Given the description of an element on the screen output the (x, y) to click on. 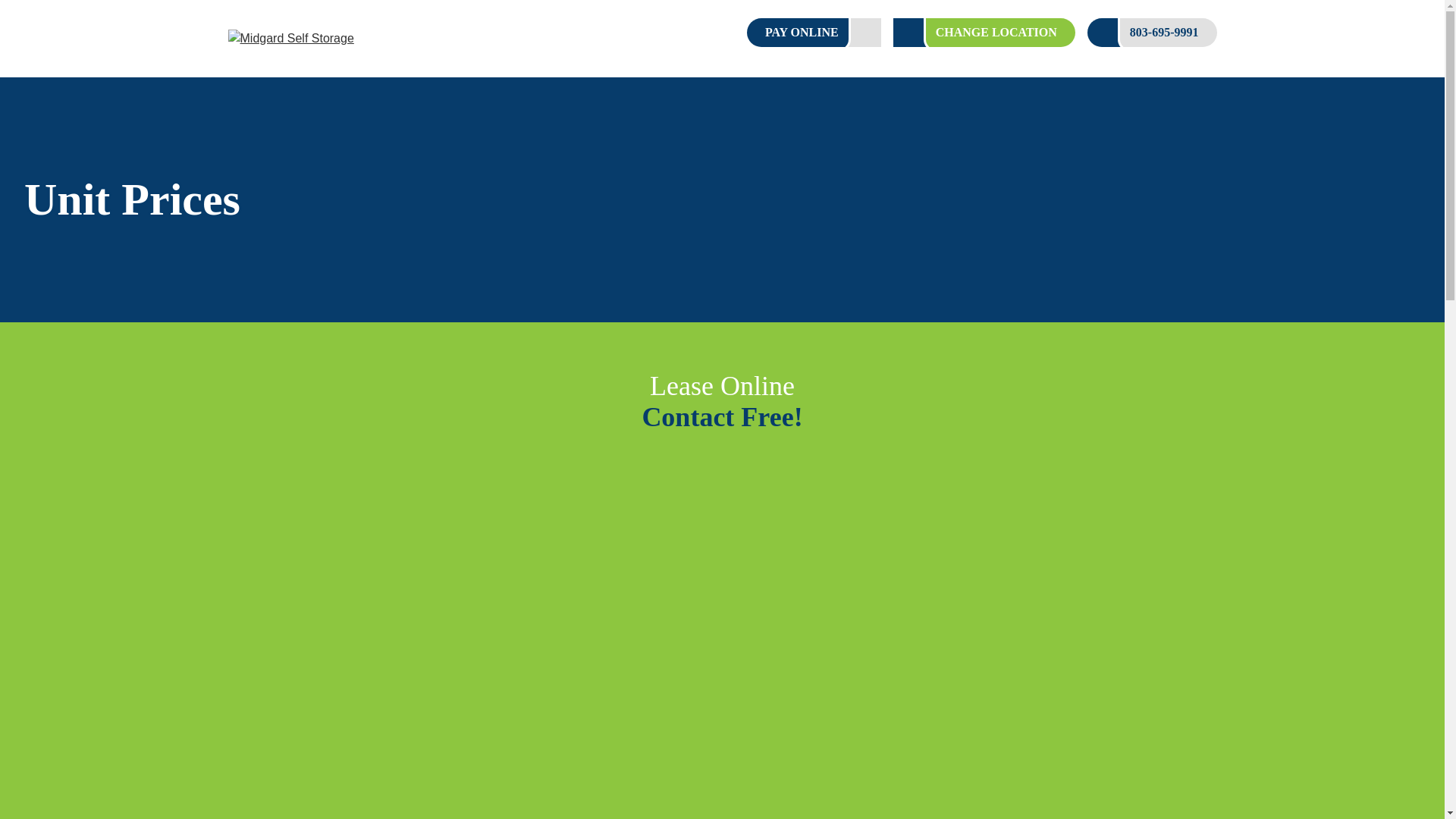
803-695-9991 (1152, 32)
CHANGE LOCATION (984, 32)
PAY ONLINE (813, 32)
